Given the description of an element on the screen output the (x, y) to click on. 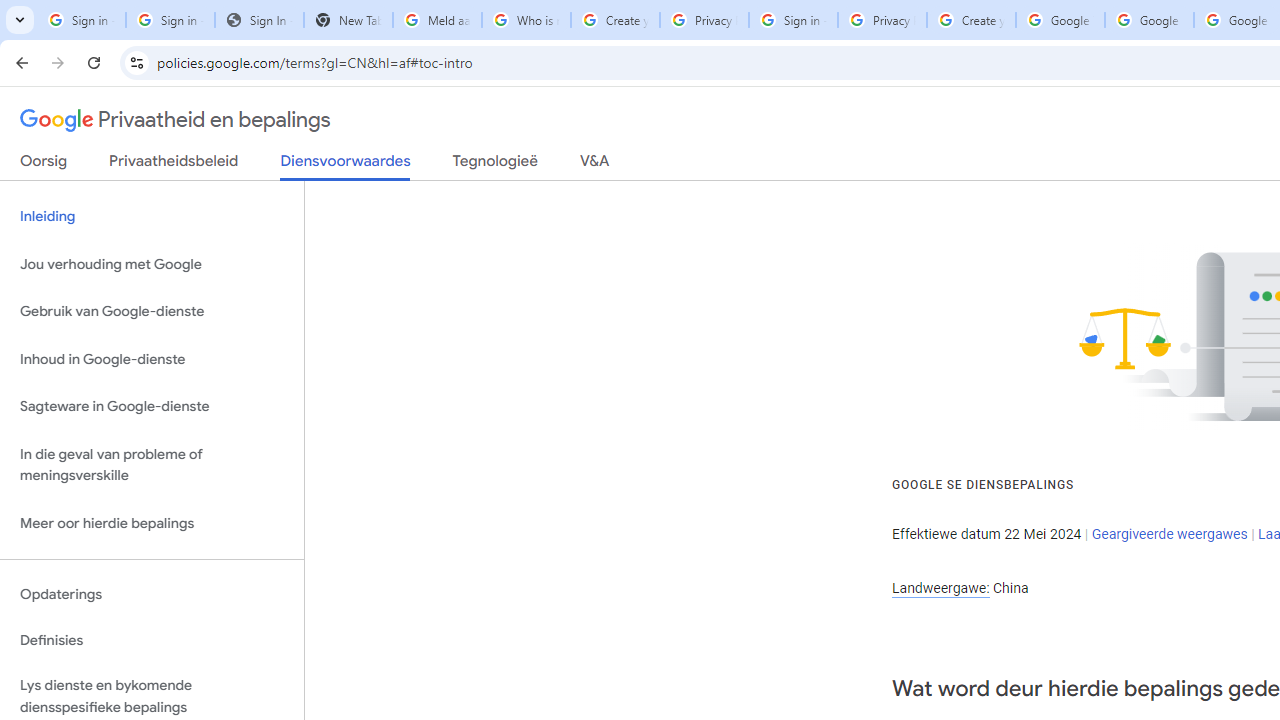
Opdaterings (152, 594)
Meer oor hierdie bepalings (152, 522)
Create your Google Account (971, 20)
